Given the description of an element on the screen output the (x, y) to click on. 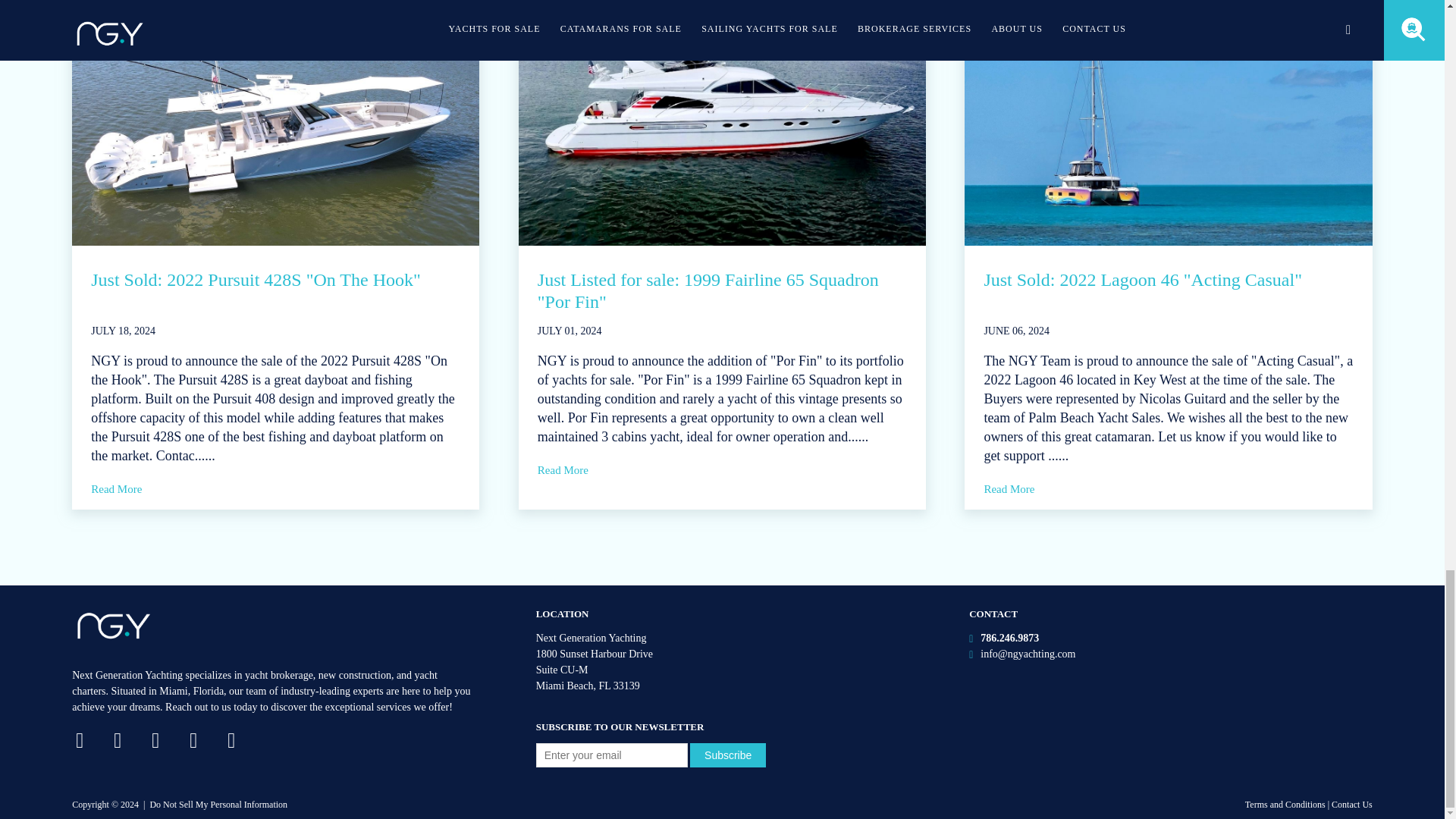
YouTube (205, 740)
Next Generation Yachting (113, 625)
Instagram (167, 740)
Just Sold: 2022 Lagoon 46  (1167, 122)
Linkedin (243, 740)
Just Sold: 2022 Pursuit 428S  (275, 122)
Just Listed for sale: 1999 Fairline 65 Squadron  (722, 122)
Facebook (90, 740)
Twitter (129, 740)
Subscribe (727, 754)
